Given the description of an element on the screen output the (x, y) to click on. 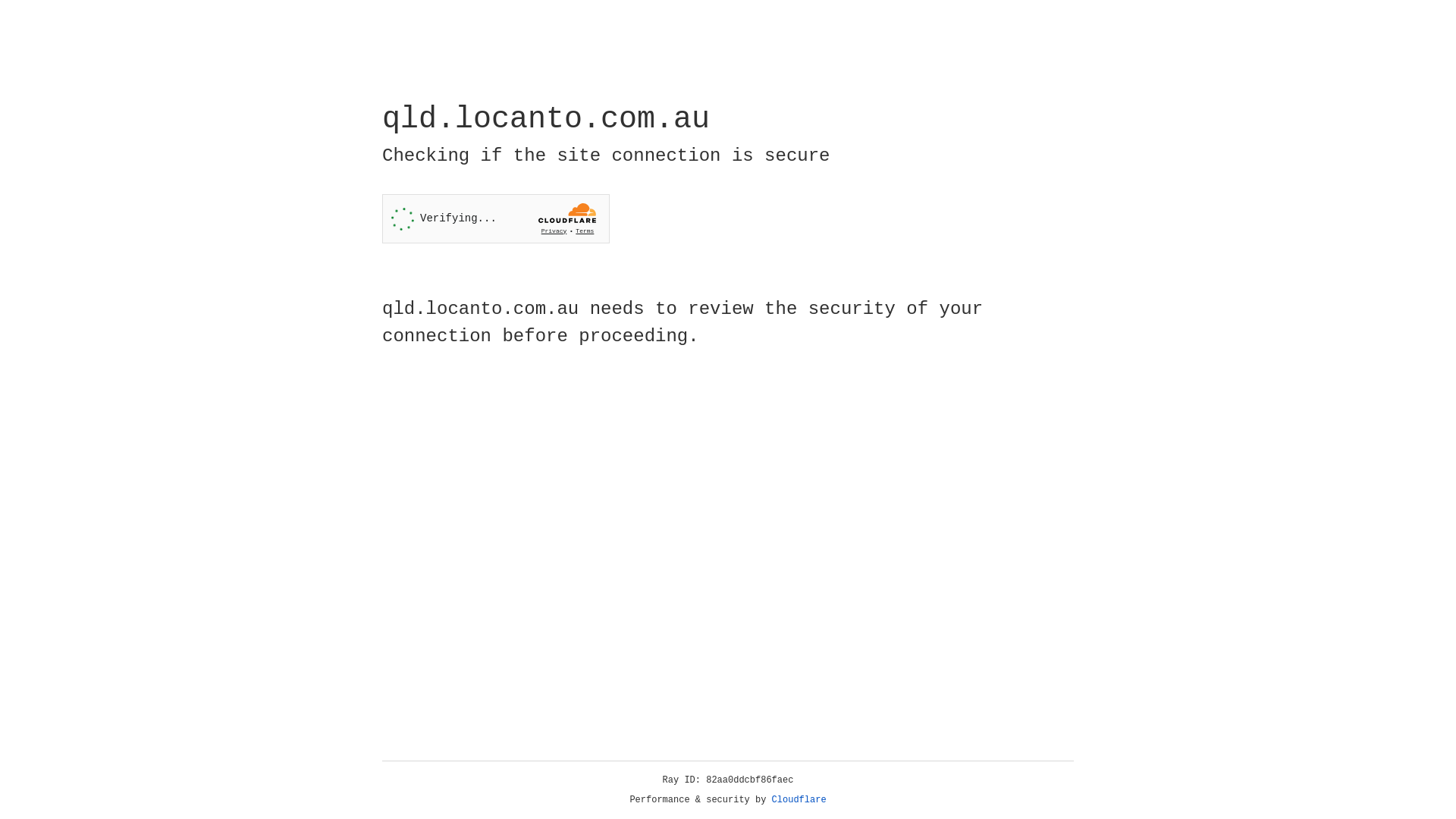
Widget containing a Cloudflare security challenge Element type: hover (495, 218)
Cloudflare Element type: text (798, 799)
